Given the description of an element on the screen output the (x, y) to click on. 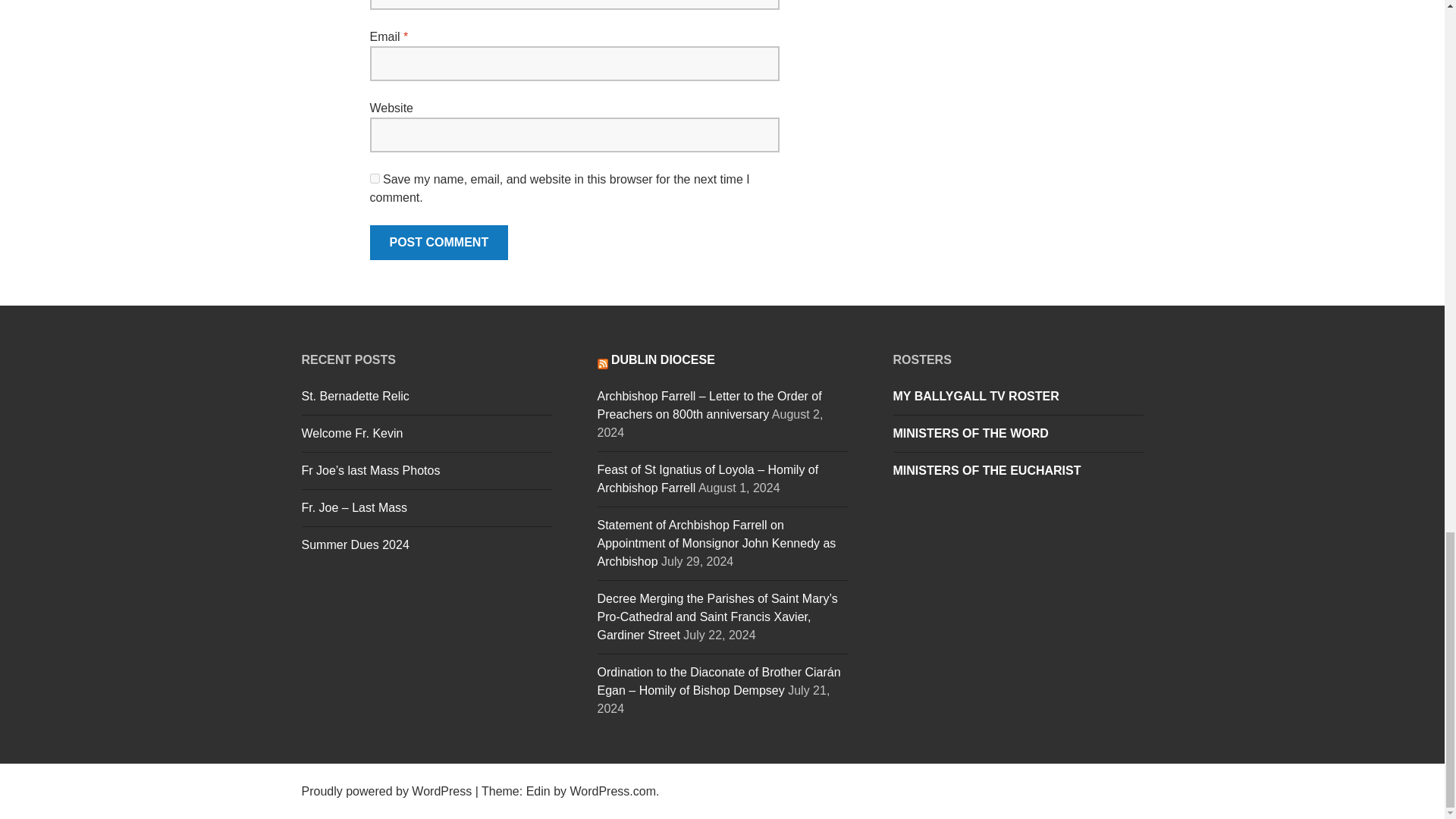
DUBLIN DIOCESE (662, 359)
Post Comment (438, 242)
Welcome Fr. Kevin (352, 432)
St. Bernadette Relic (355, 395)
Post Comment (438, 242)
yes (374, 178)
Summer Dues 2024 (355, 544)
